Given the description of an element on the screen output the (x, y) to click on. 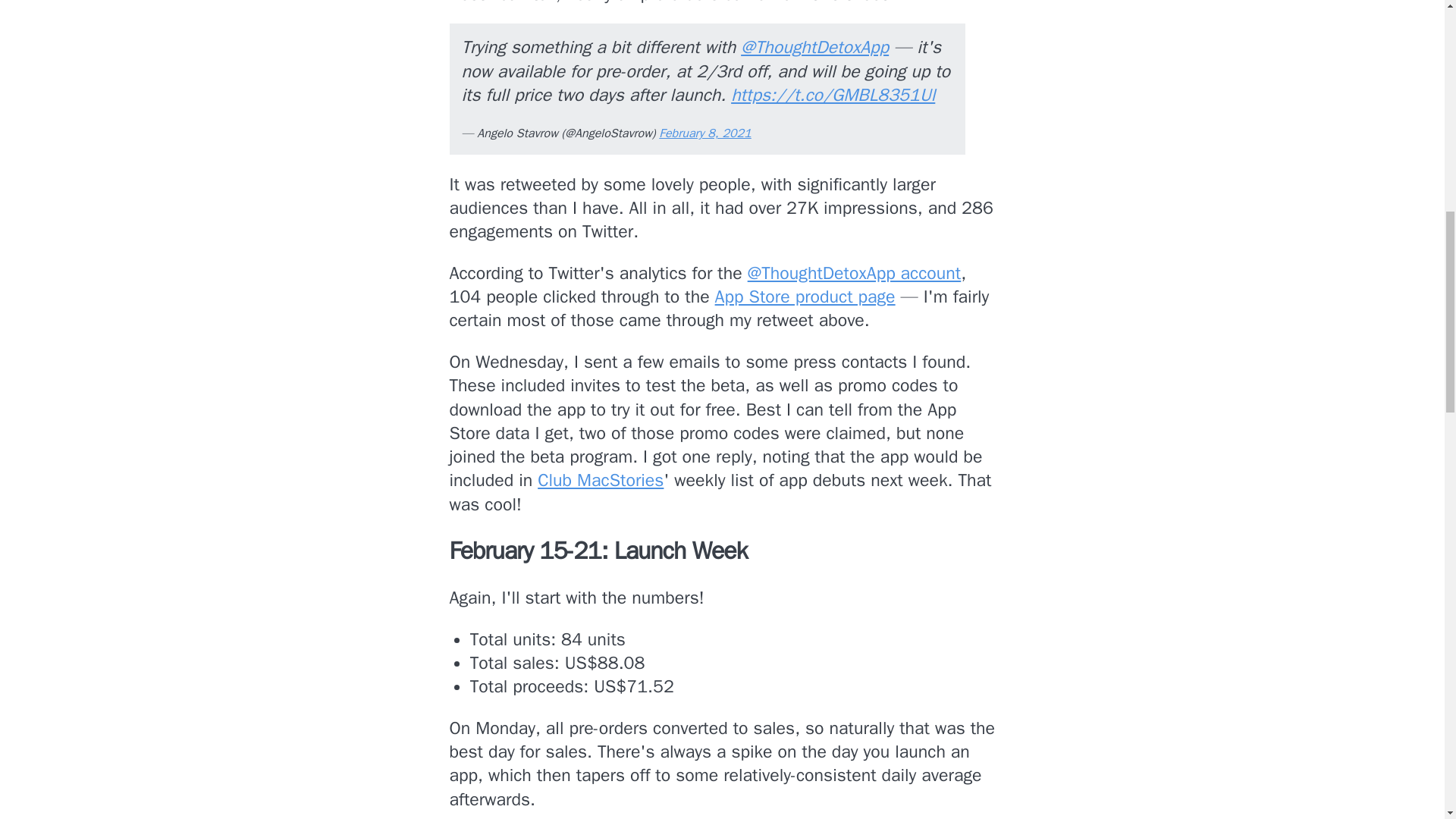
App Store product page (804, 296)
February 8, 2021 (705, 133)
Club MacStories (600, 480)
